Given the description of an element on the screen output the (x, y) to click on. 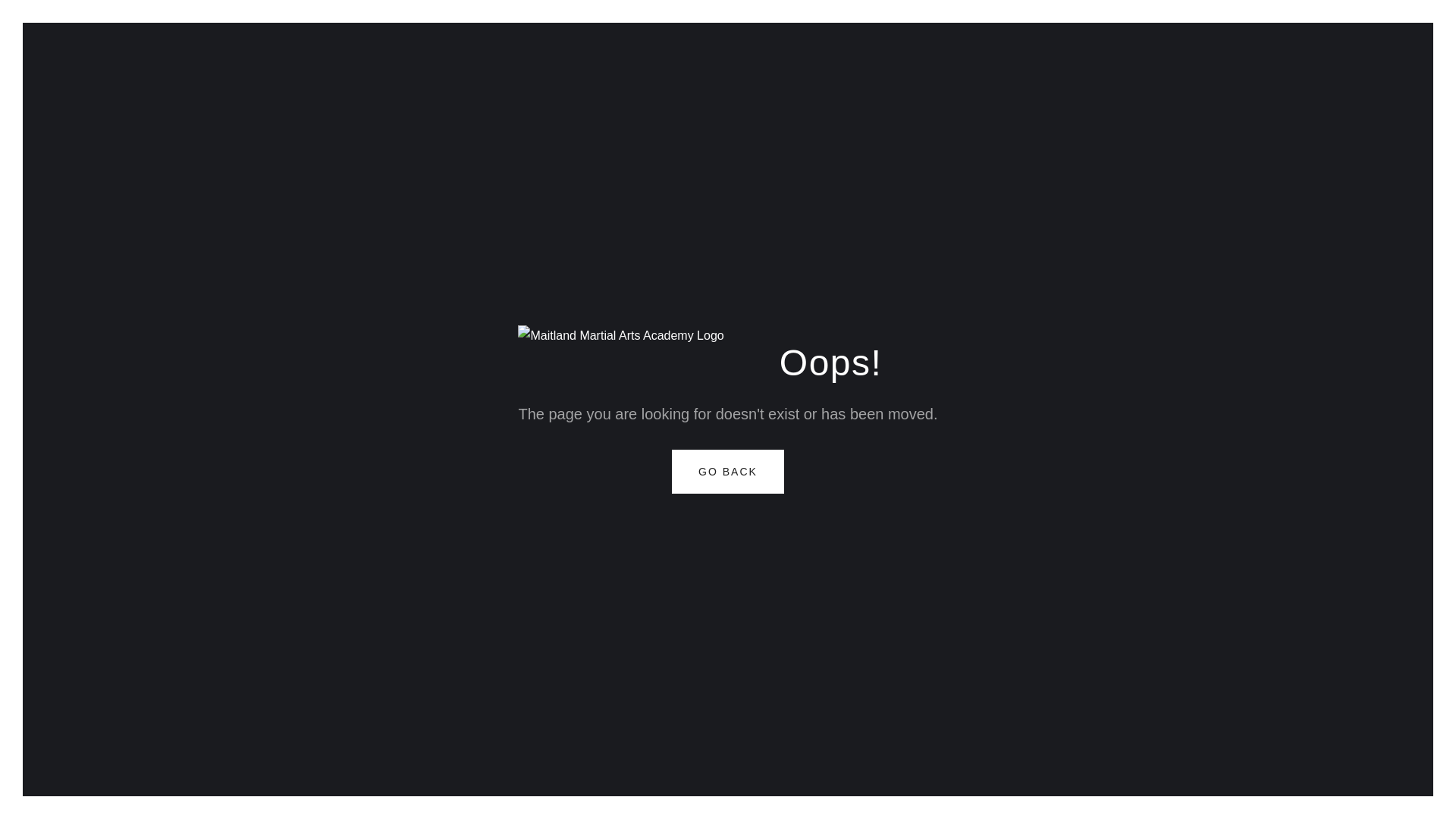
GO BACK Element type: text (727, 471)
